Given the description of an element on the screen output the (x, y) to click on. 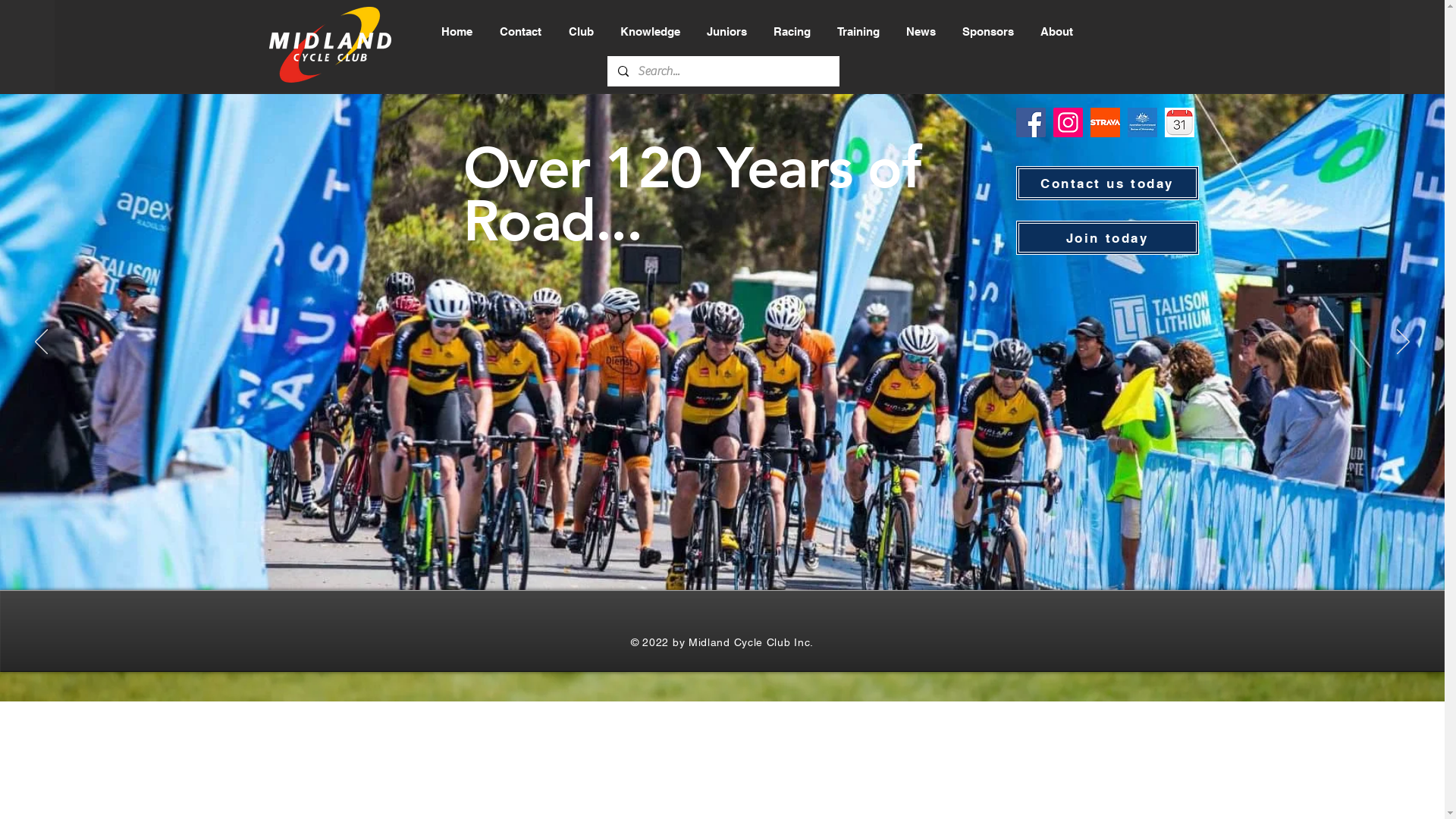
Juniors Element type: text (727, 31)
Contact us today Element type: text (1107, 183)
About Element type: text (1057, 31)
Home Element type: text (458, 31)
Racing Element type: text (793, 31)
Contact Element type: text (522, 31)
News Element type: text (922, 31)
Knowledge Element type: text (651, 31)
Join today Element type: text (1107, 237)
Training Element type: text (859, 31)
Club Element type: text (582, 31)
Sponsors Element type: text (989, 31)
